Given the description of an element on the screen output the (x, y) to click on. 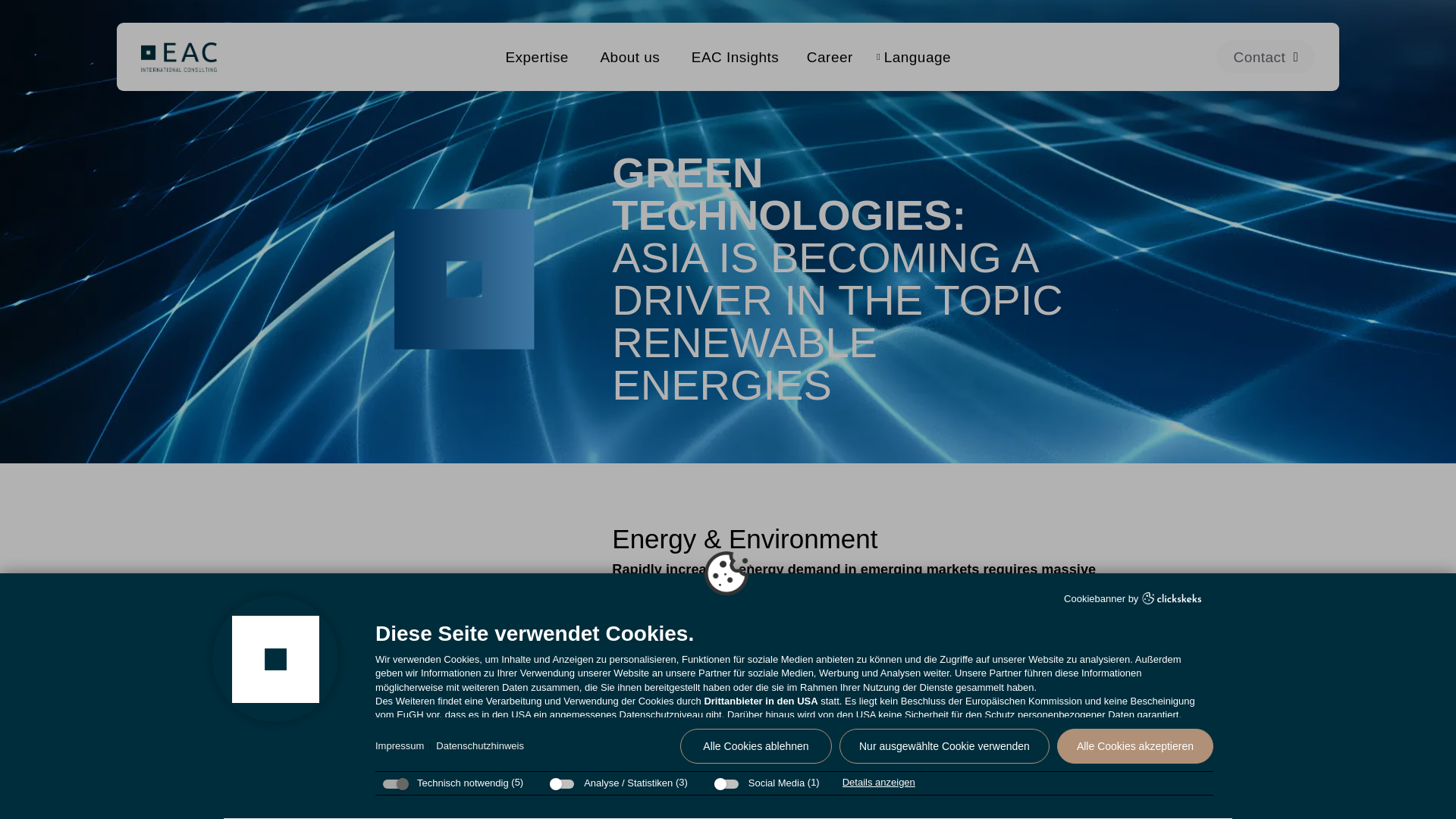
Clickskeks Logo (1171, 598)
Clickskeks (1171, 600)
Career (841, 56)
